Given the description of an element on the screen output the (x, y) to click on. 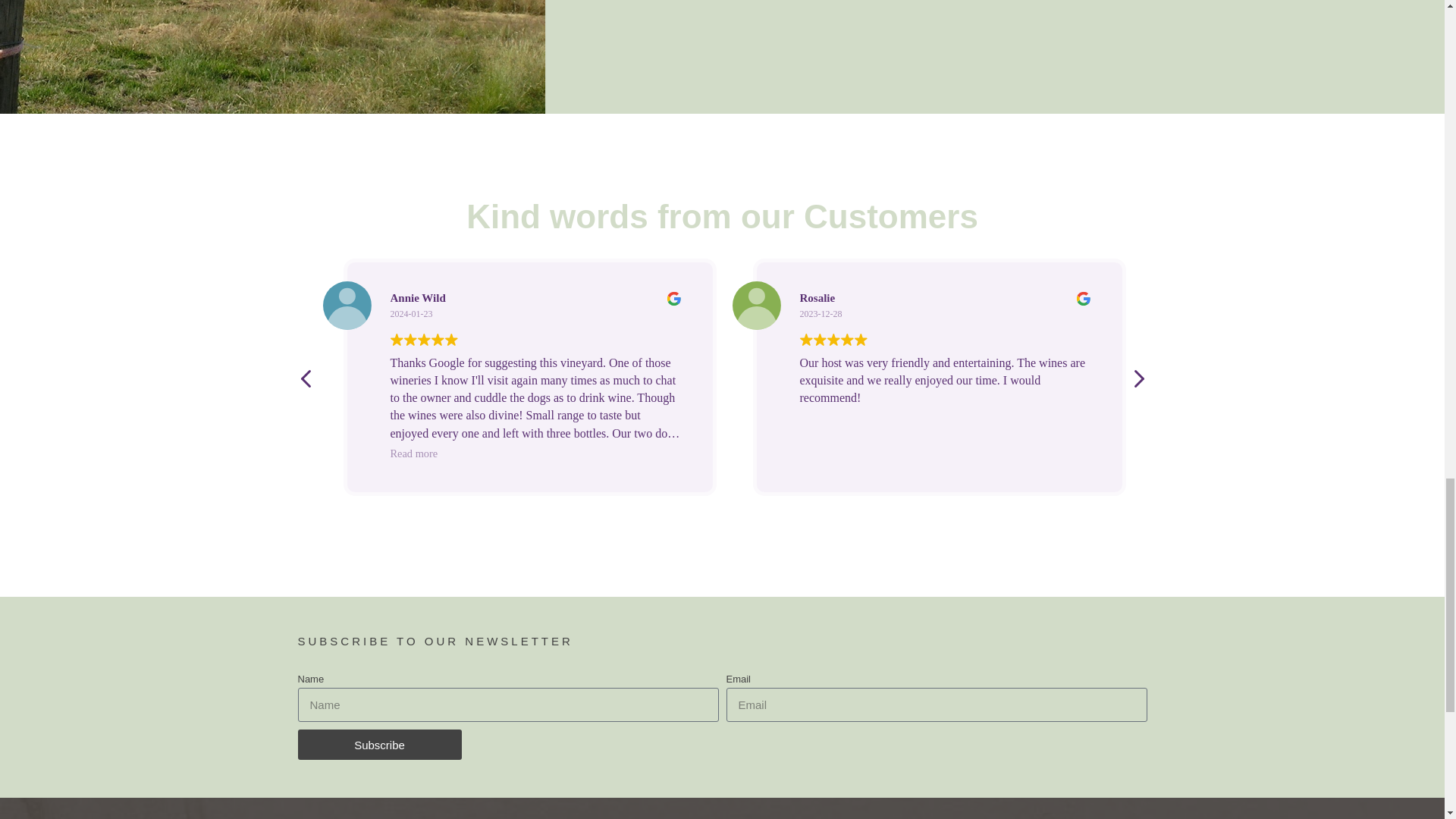
Subscribe (379, 744)
